Given the description of an element on the screen output the (x, y) to click on. 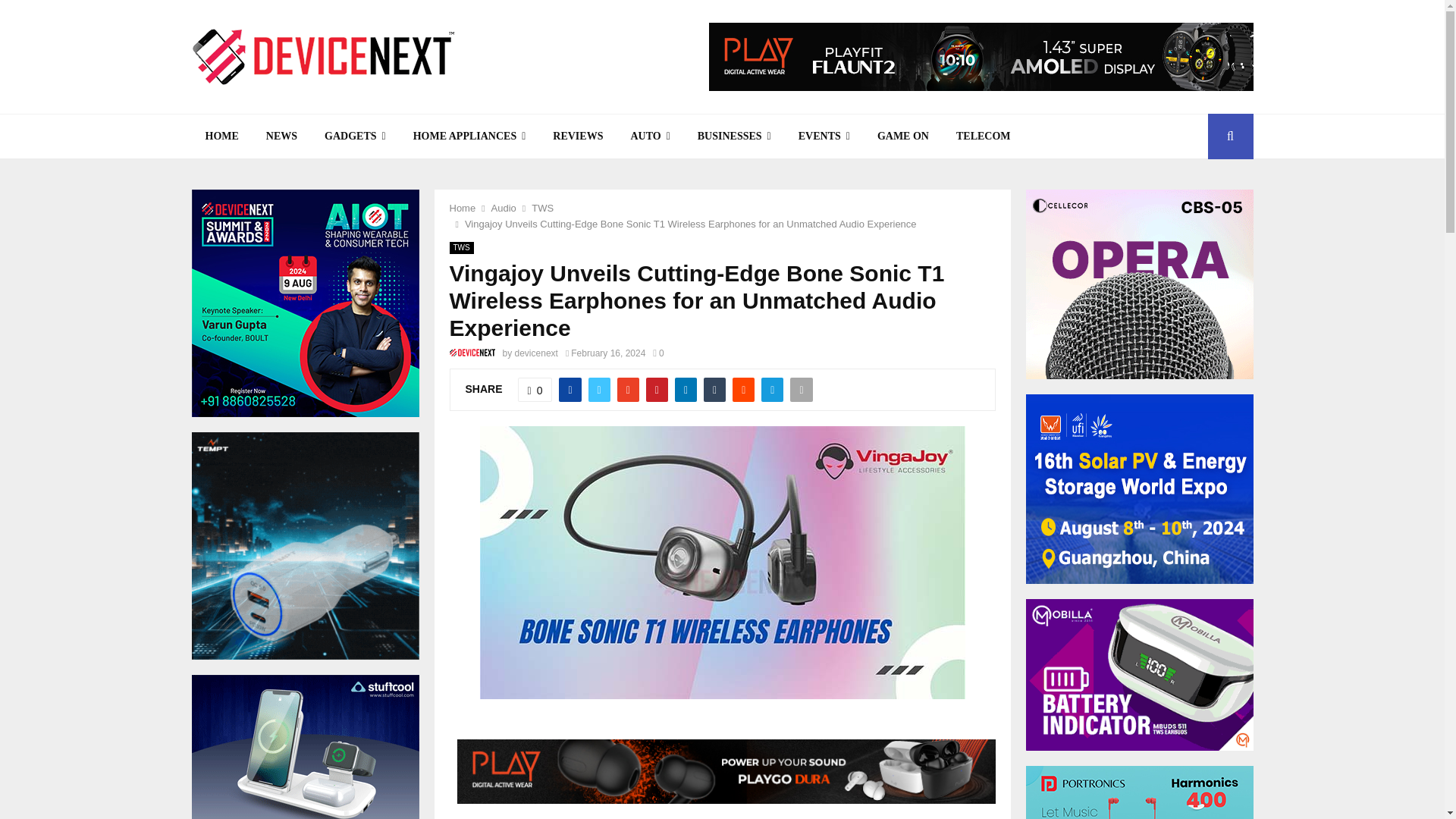
NEWS (281, 135)
HOME (220, 135)
REVIEWS (576, 135)
BUSINESSES (734, 135)
EVENTS (823, 135)
GADGETS (354, 135)
HOME APPLIANCES (469, 135)
AUTO (648, 135)
Like (535, 389)
